Given the description of an element on the screen output the (x, y) to click on. 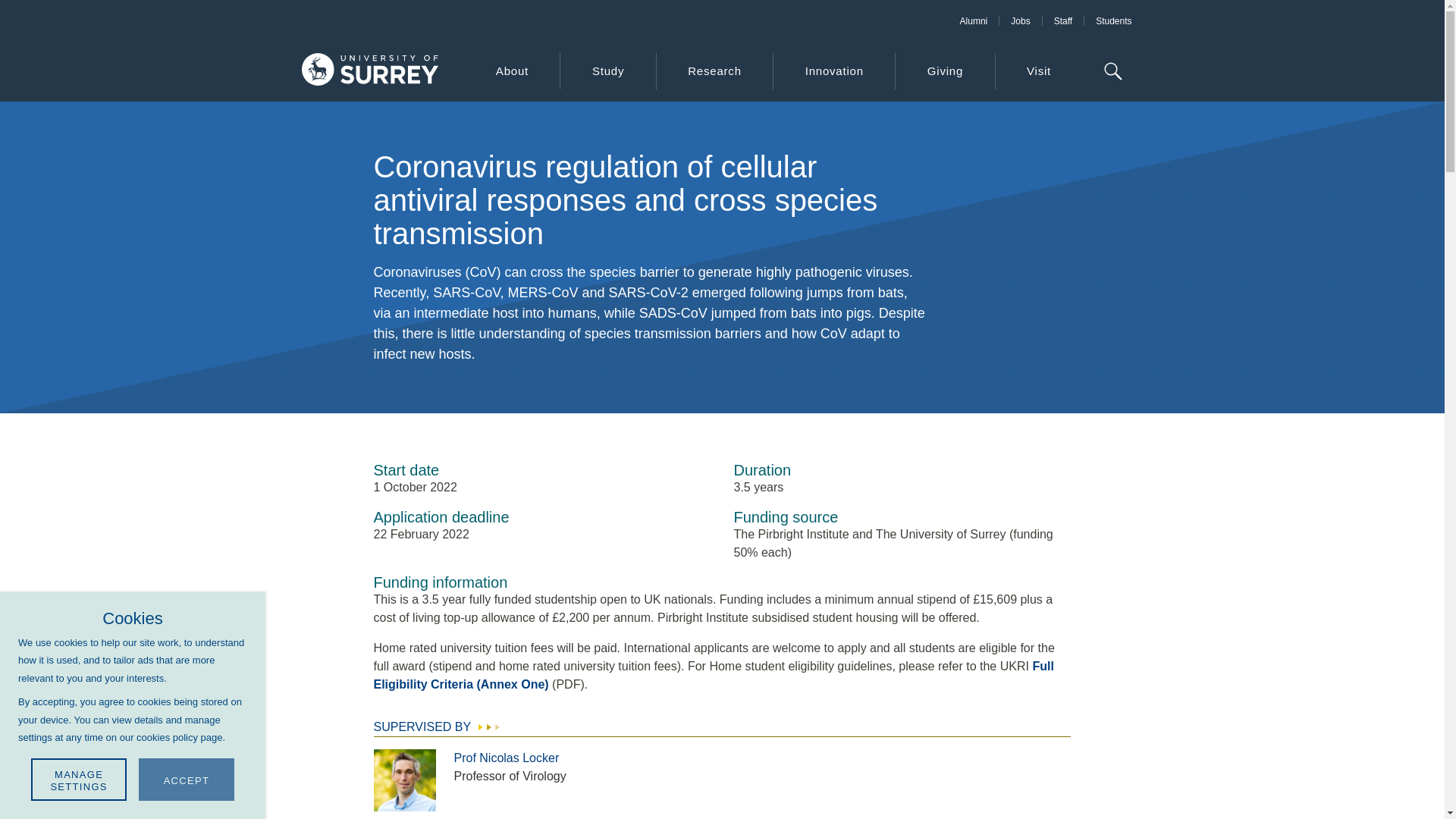
Jobs (1019, 20)
ACCEPT (186, 779)
Alumni (973, 20)
Students (1113, 20)
Staff (1062, 20)
MANAGE SETTINGS (78, 779)
About (511, 71)
Home (369, 71)
